Given the description of an element on the screen output the (x, y) to click on. 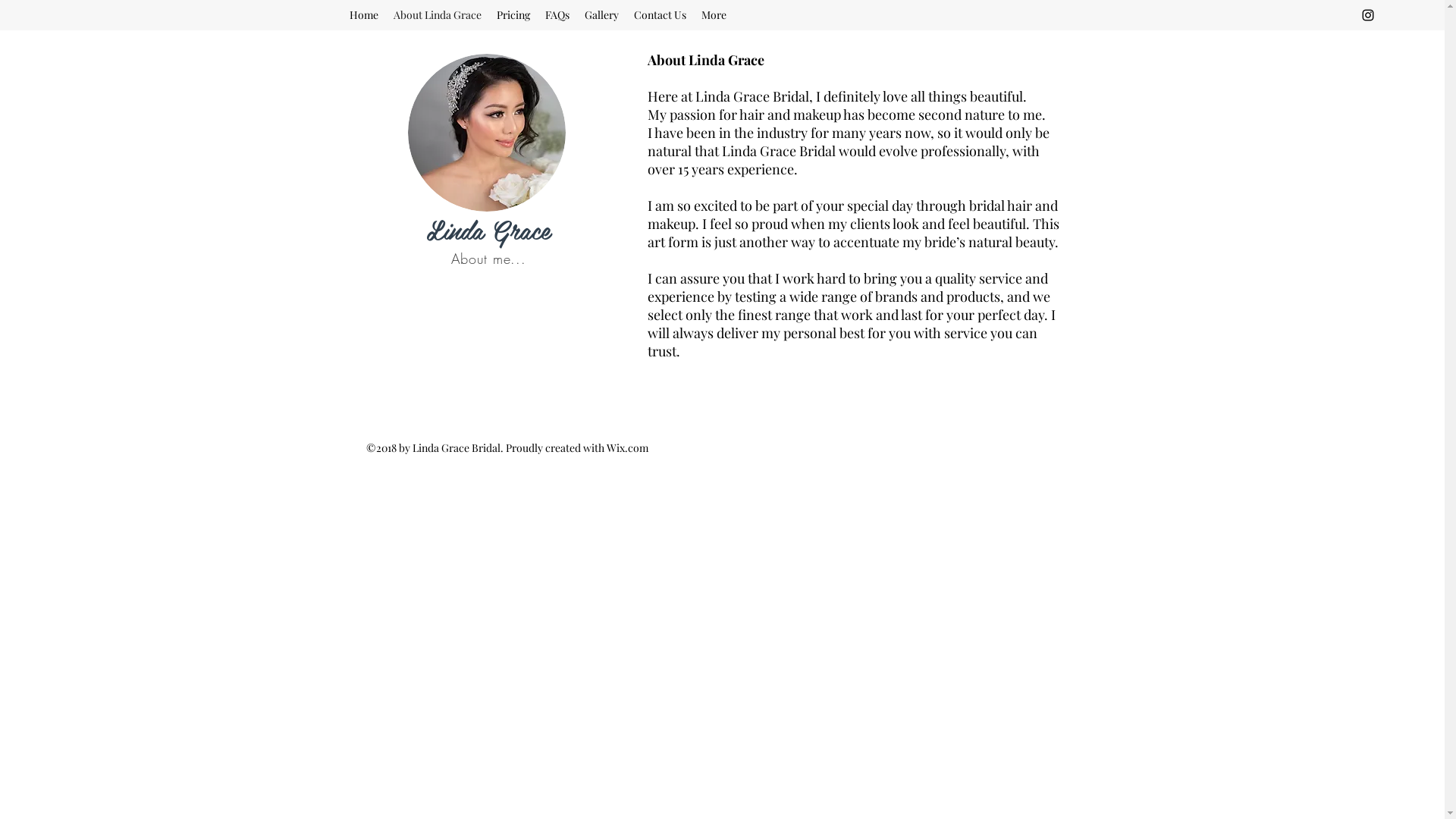
Home Element type: text (363, 14)
About Linda Grace Element type: text (437, 14)
Contact Us Element type: text (659, 14)
Gallery Element type: text (601, 14)
Pricing Element type: text (513, 14)
FAQs Element type: text (557, 14)
